Given the description of an element on the screen output the (x, y) to click on. 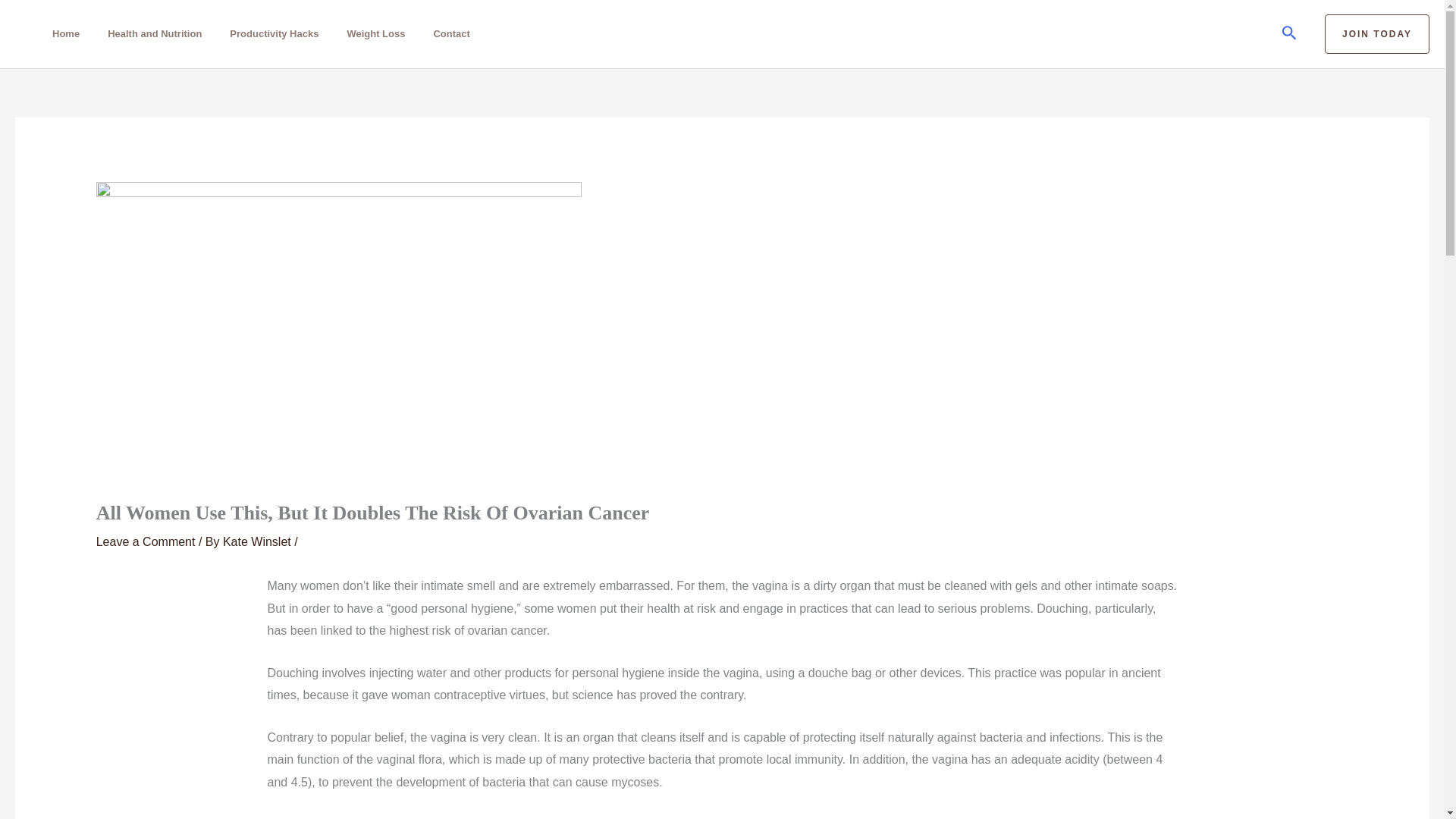
JOIN TODAY (1376, 34)
Leave a Comment (145, 541)
Home (69, 33)
Weight Loss (379, 33)
Productivity Hacks (277, 33)
Health and Nutrition (158, 33)
Kate Winslet (258, 541)
Contact (455, 33)
View all posts by Kate Winslet (258, 541)
